Given the description of an element on the screen output the (x, y) to click on. 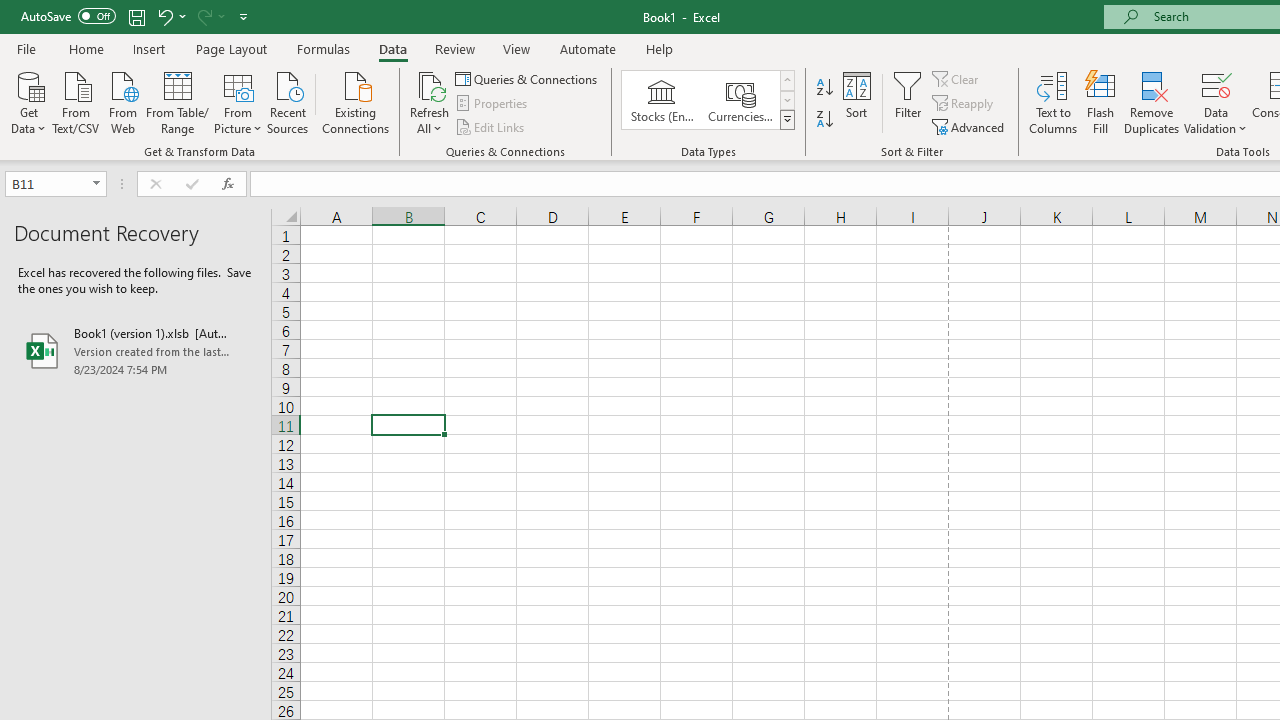
Stocks (English) (662, 100)
Reapply (964, 103)
Sort A to Z (824, 87)
Remove Duplicates (1151, 102)
Sort... (856, 102)
From Table/Range (177, 101)
